Given the description of an element on the screen output the (x, y) to click on. 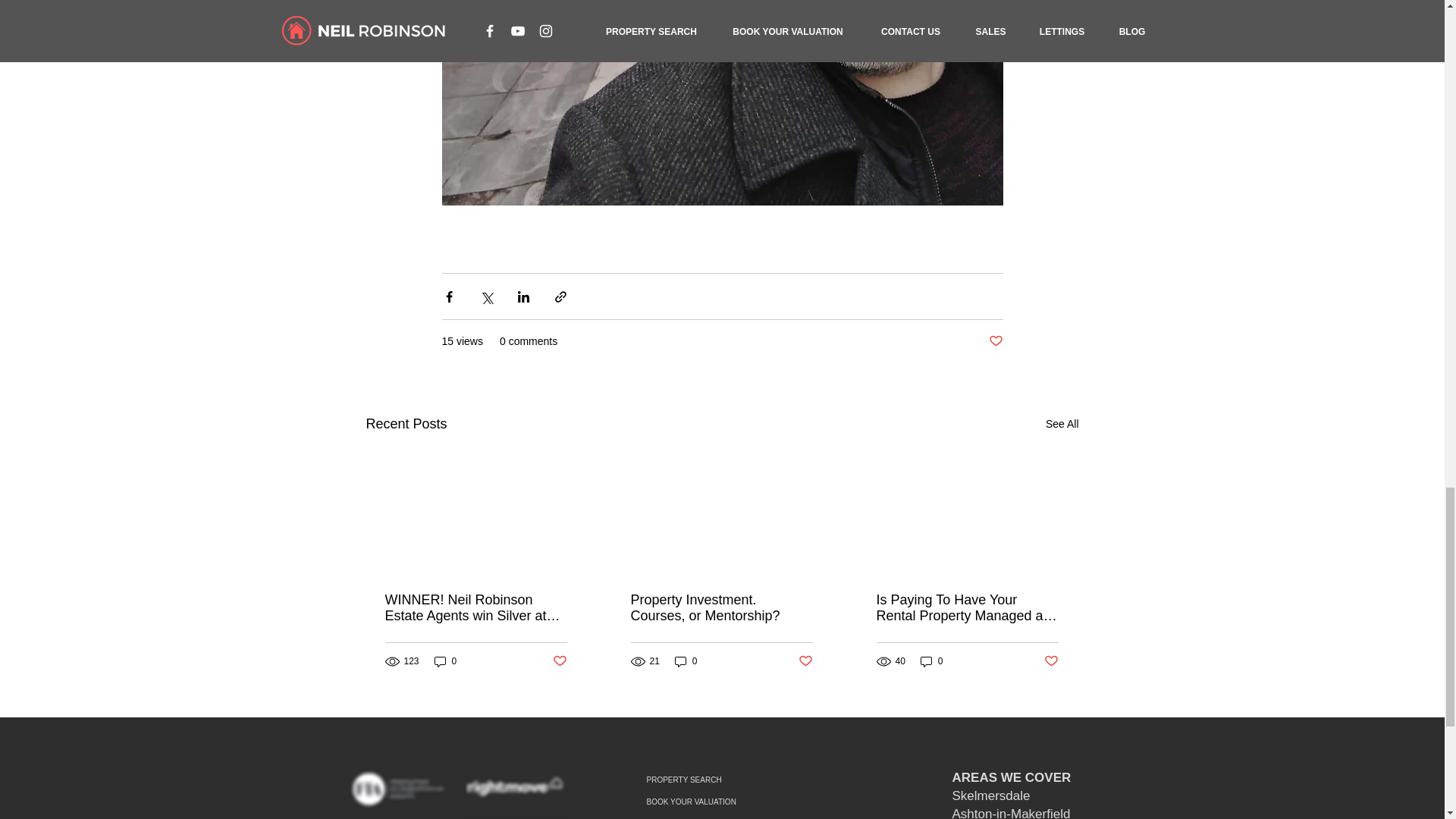
BOOK YOUR VALUATION (737, 802)
CONTACT US (737, 816)
Property Investment. Courses, or Mentorship? (721, 608)
0 (931, 661)
Post not marked as liked (995, 341)
0 (445, 661)
See All (1061, 423)
PROPERTY SEARCH (737, 780)
